Given the description of an element on the screen output the (x, y) to click on. 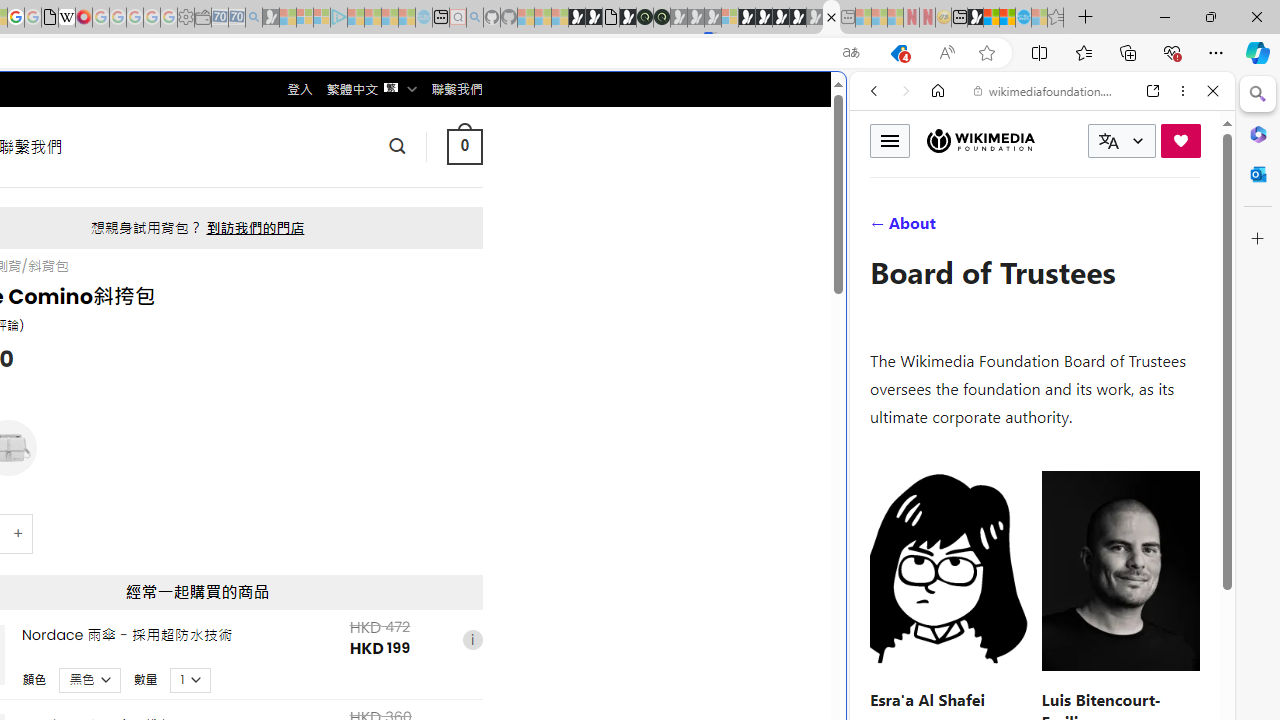
Sign in to your account - Sleeping (729, 17)
Toggle menu (890, 140)
Esra'a Al Shafei (927, 698)
